Given the description of an element on the screen output the (x, y) to click on. 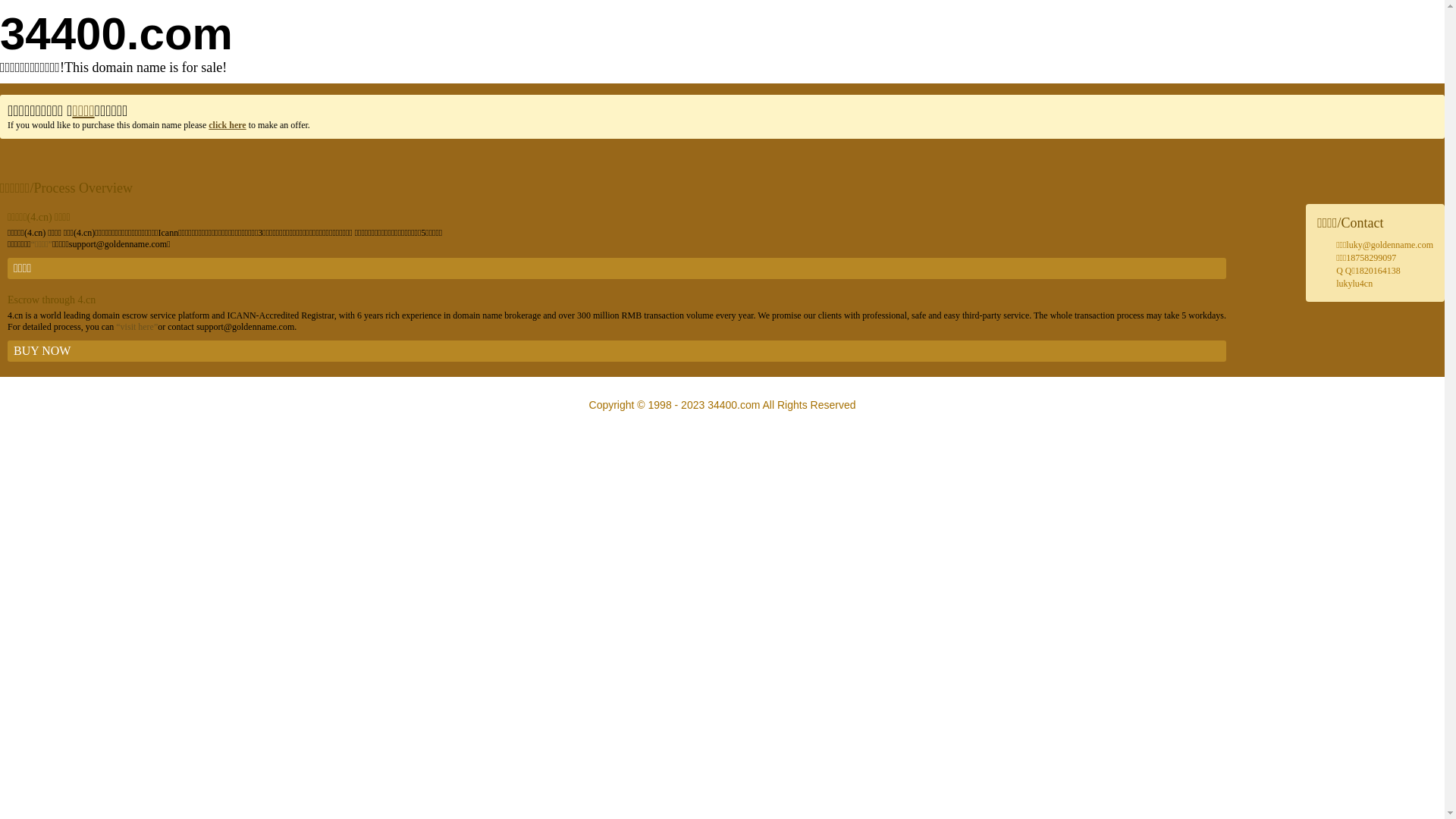
BUY NOW Element type: text (616, 350)
click here Element type: text (226, 124)
